Given the description of an element on the screen output the (x, y) to click on. 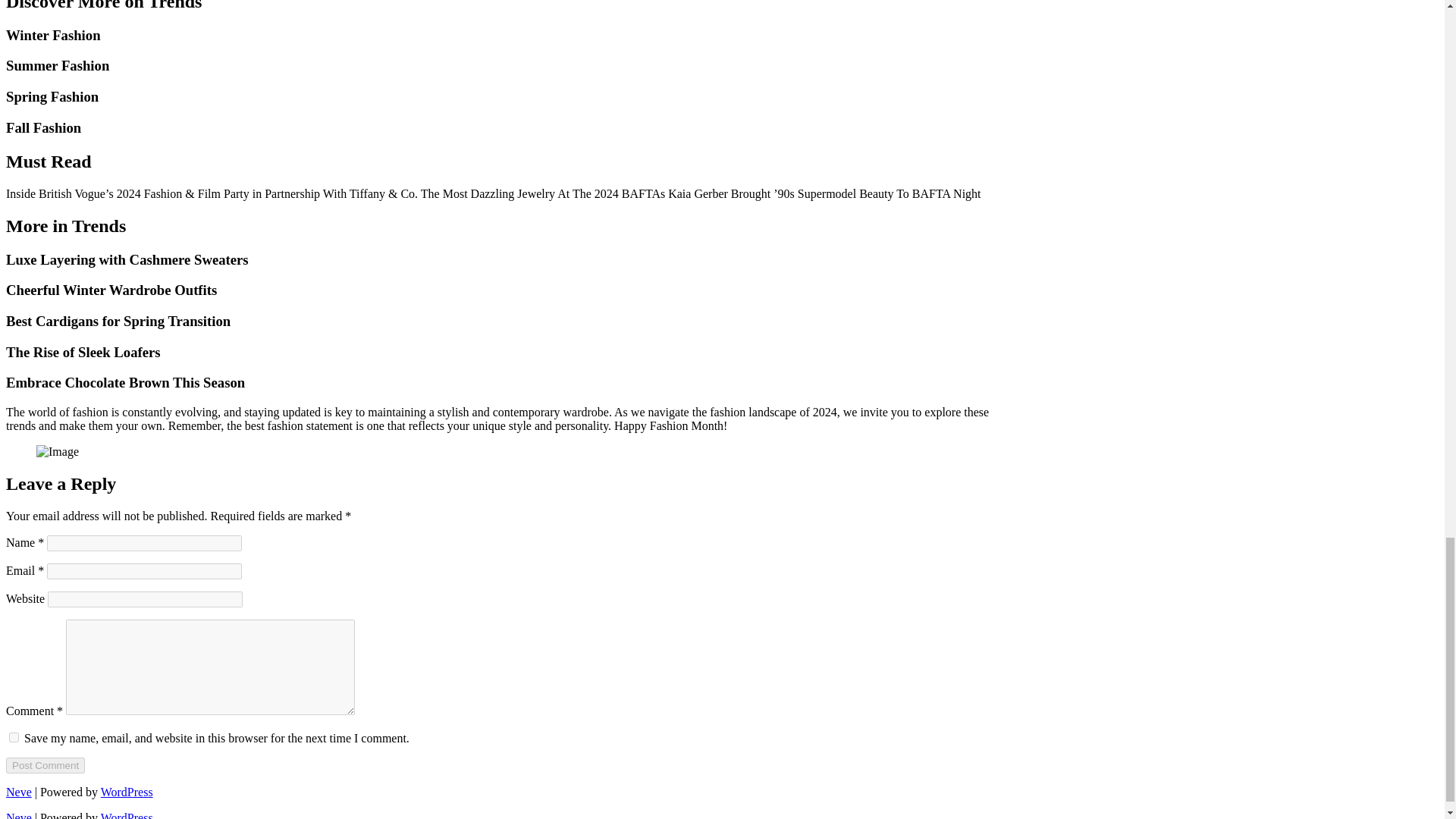
yes (13, 737)
WordPress (126, 791)
Post Comment (44, 765)
Neve (18, 791)
Post Comment (44, 765)
